Given the description of an element on the screen output the (x, y) to click on. 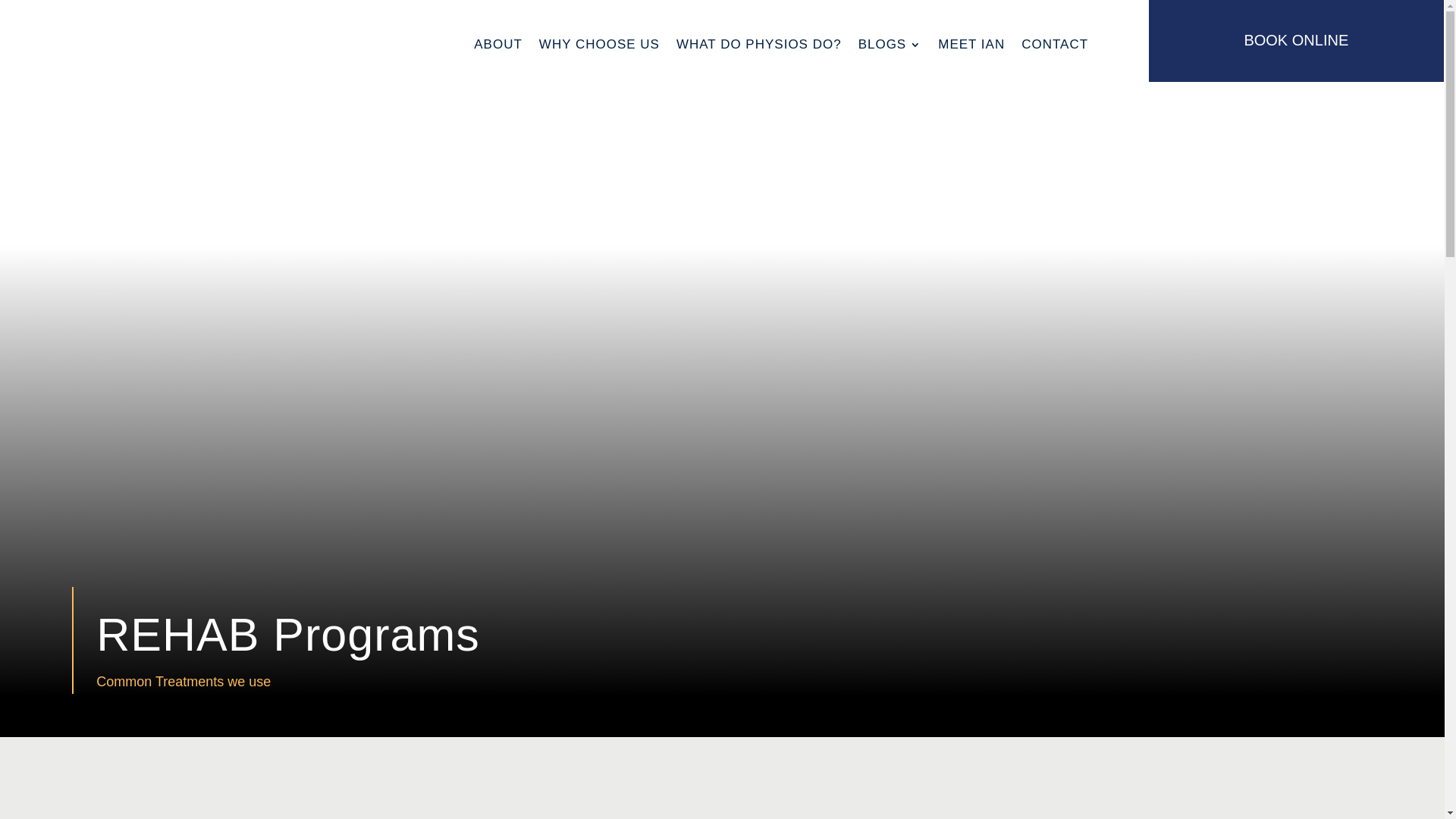
MEET IAN Element type: text (971, 44)
WHAT DO PHYSIOS DO? Element type: text (758, 44)
WHY CHOOSE US Element type: text (599, 44)
BLOGS Element type: text (890, 44)
ABOUT Element type: text (497, 44)
Common Treatments we use Element type: text (183, 681)
CONTACT Element type: text (1054, 44)
BOOK ONLINE Element type: text (1295, 39)
